Given the description of an element on the screen output the (x, y) to click on. 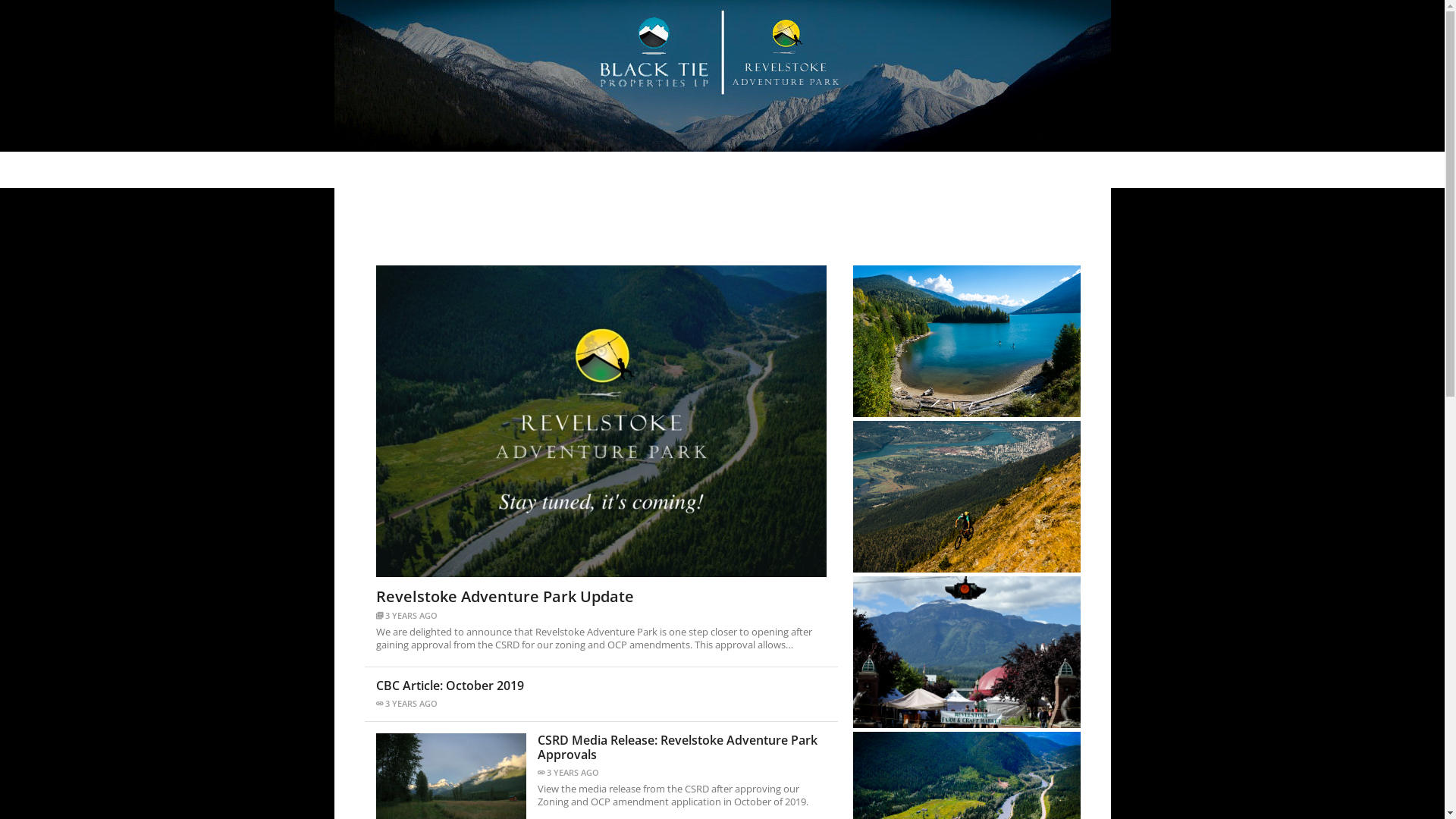
CSRD Media Release: Revelstoke Adventure Park Approvals Element type: text (680, 747)
Revelstoke Adventure Park Update Element type: text (601, 596)
CBC Article: October 2019 Element type: text (601, 685)
